Given the description of an element on the screen output the (x, y) to click on. 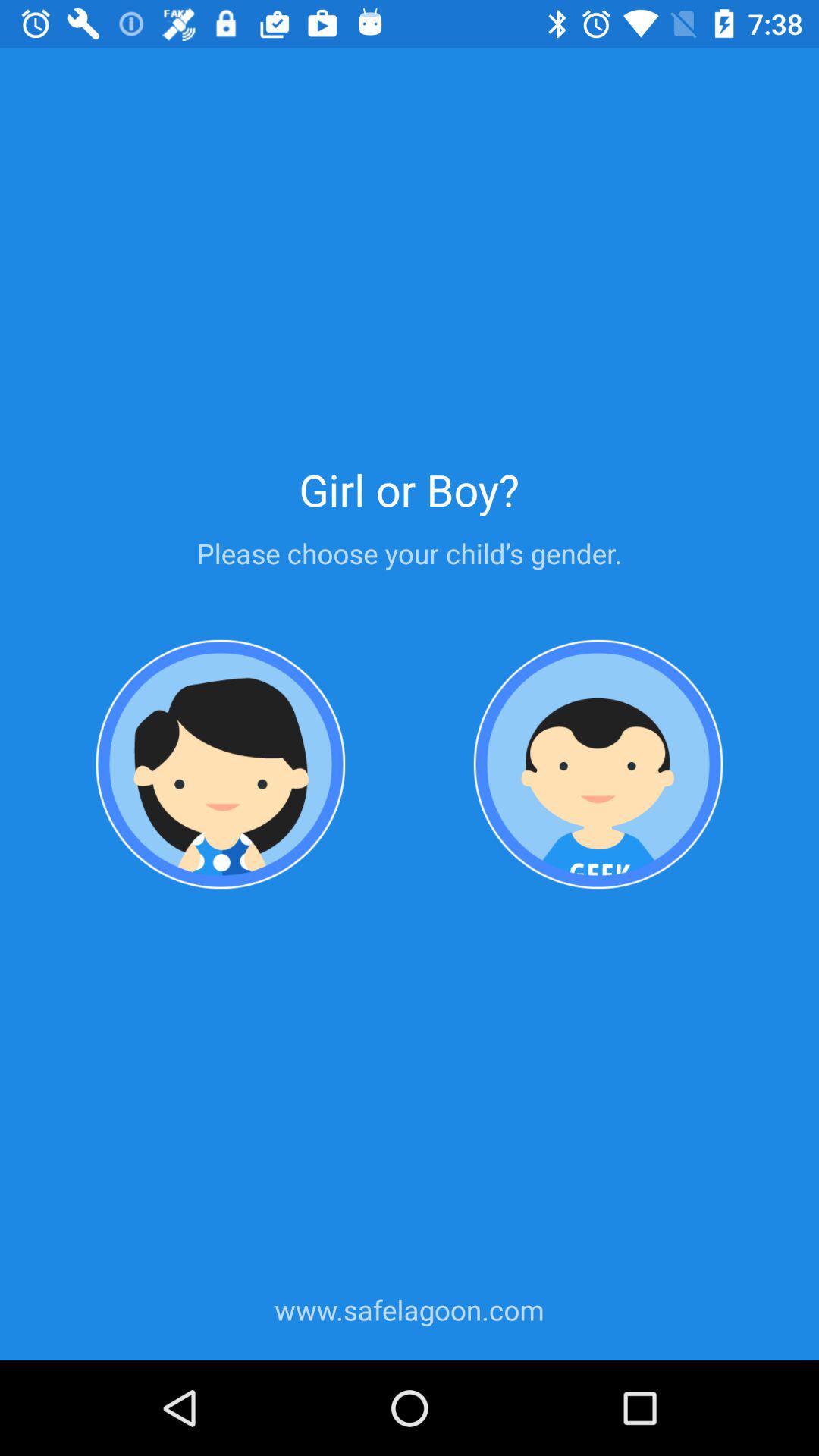
choose boy for prompt (598, 765)
